Given the description of an element on the screen output the (x, y) to click on. 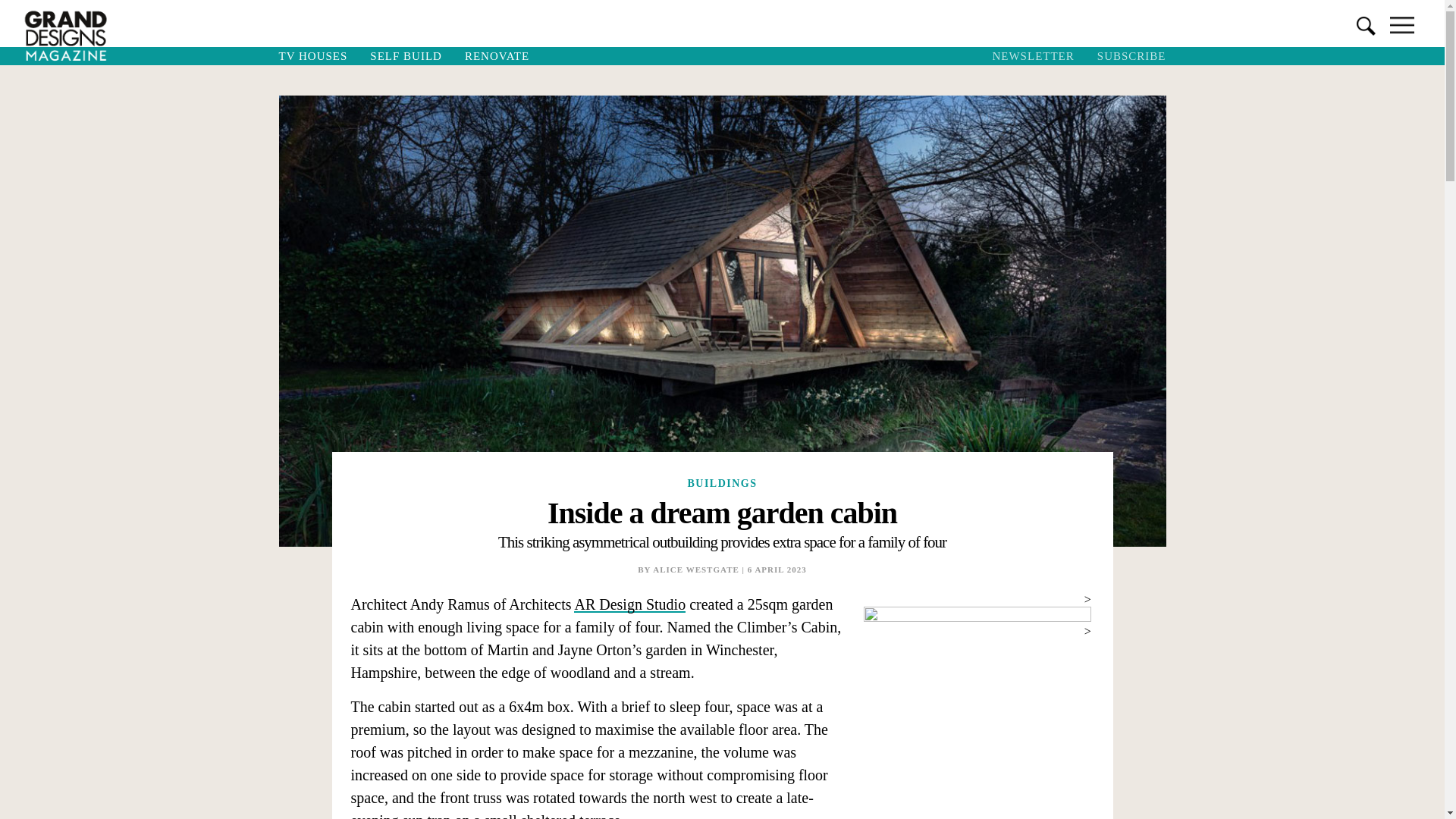
SELF BUILD (405, 56)
RENOVATE (496, 56)
Search (20, 8)
TV HOUSES (312, 56)
